Given the description of an element on the screen output the (x, y) to click on. 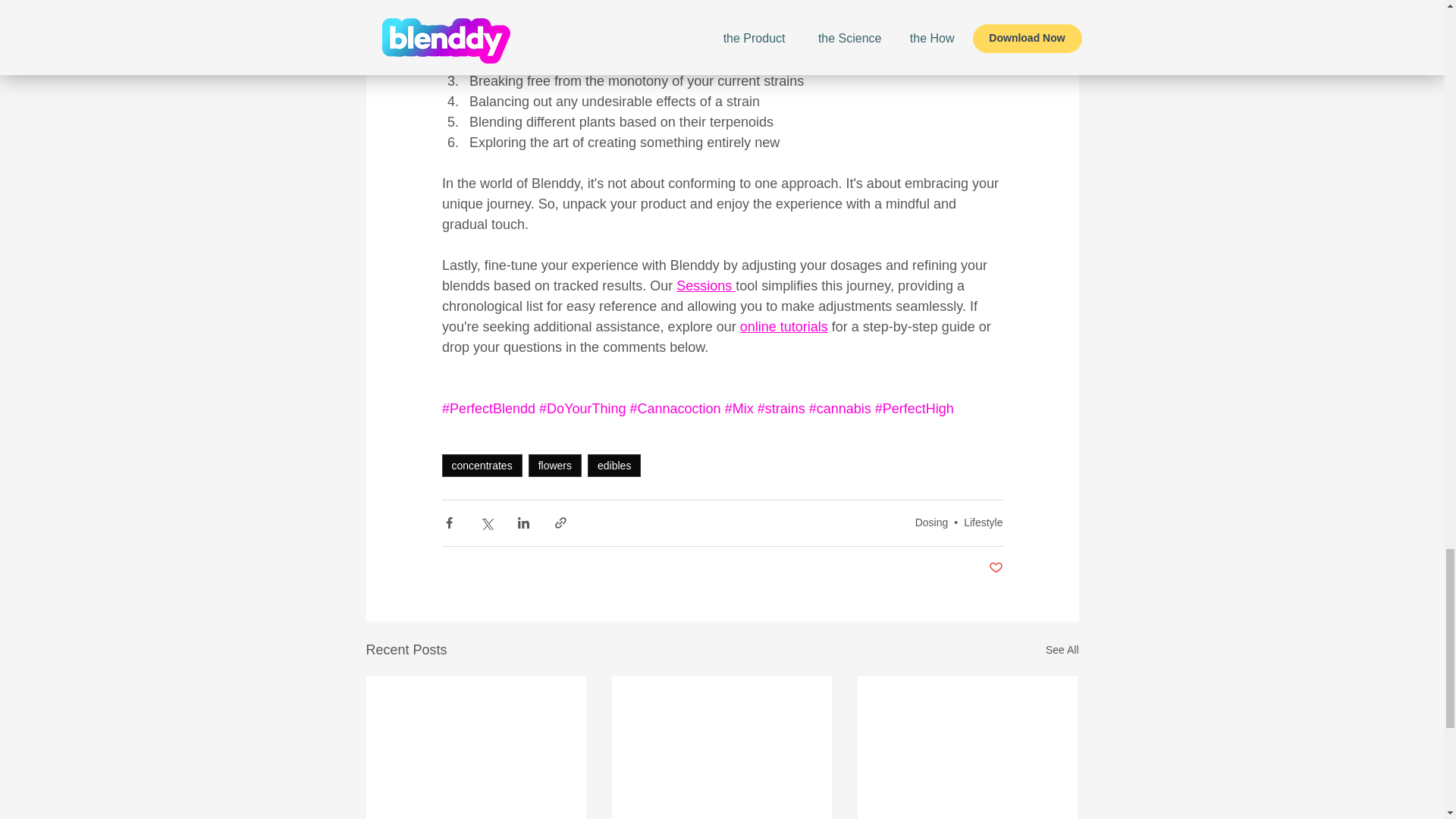
Sessions  (706, 285)
online tutorials (783, 326)
